Given the description of an element on the screen output the (x, y) to click on. 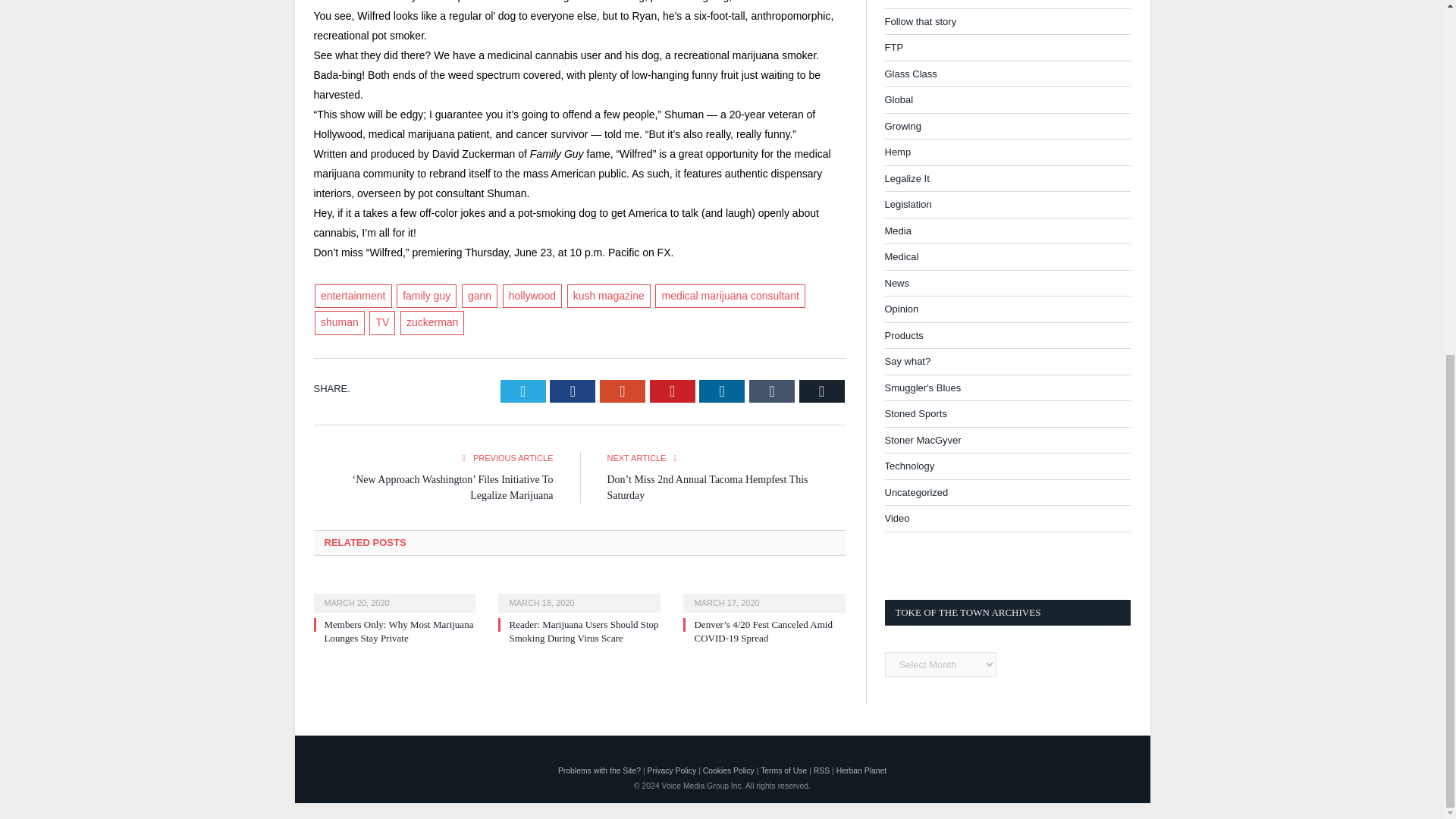
shuman (339, 322)
kush magazine (608, 295)
Members Only: Why Most Marijuana Lounges Stay Private (399, 631)
family guy (426, 295)
Pinterest (672, 391)
hollywood (532, 295)
LinkedIn (721, 391)
gann (479, 295)
Members Only: Why Most Marijuana Lounges Stay Private (395, 593)
Twitter (523, 391)
Tumblr (771, 391)
TV (381, 322)
Email (821, 391)
